Given the description of an element on the screen output the (x, y) to click on. 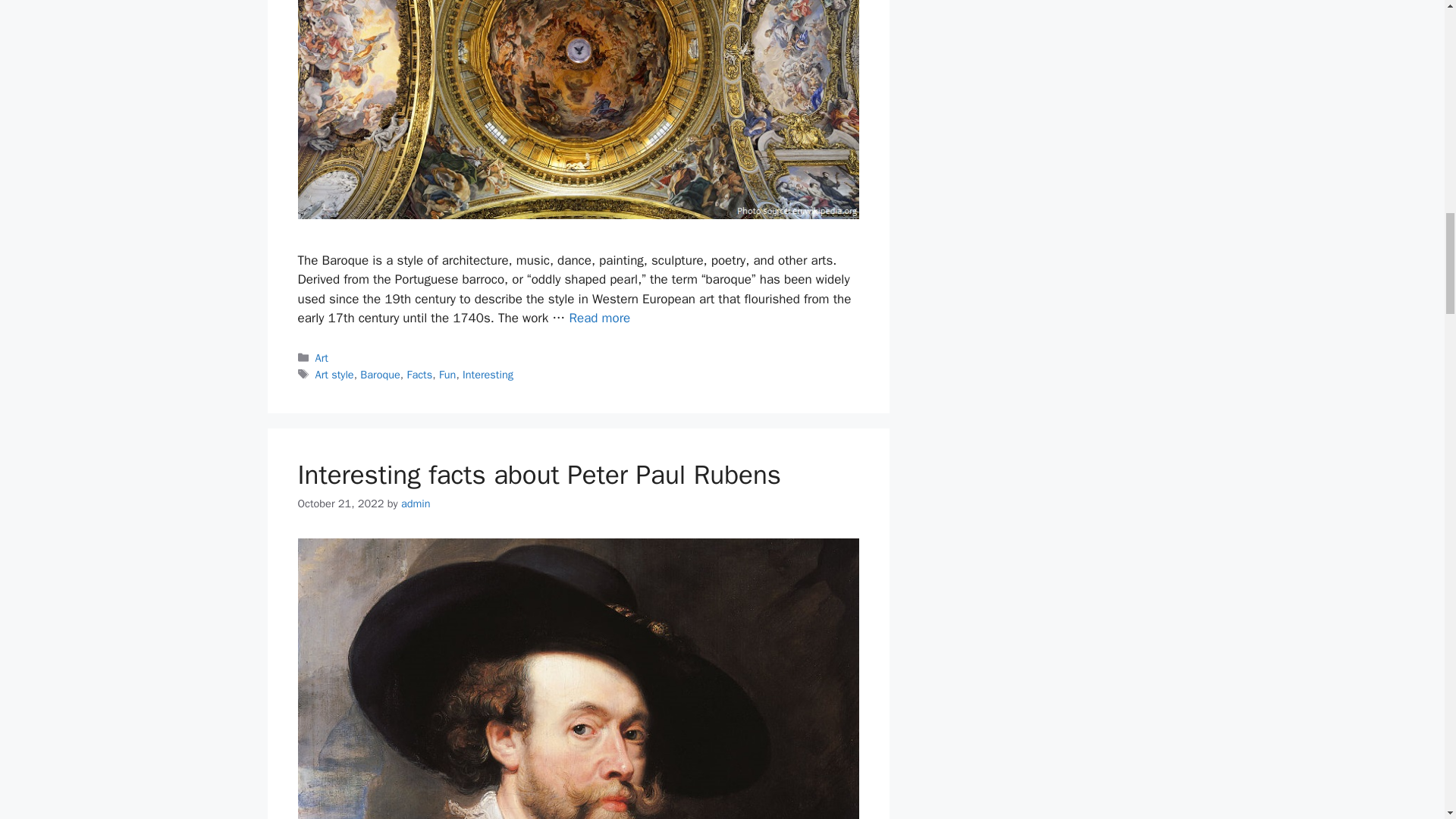
Interesting (488, 374)
Fun (448, 374)
View all posts by admin (415, 503)
Baroque (378, 374)
Art style (334, 374)
Read more (599, 317)
admin (415, 503)
Facts (419, 374)
Interesting facts about Peter Paul Rubens (538, 474)
Art (322, 357)
